Given the description of an element on the screen output the (x, y) to click on. 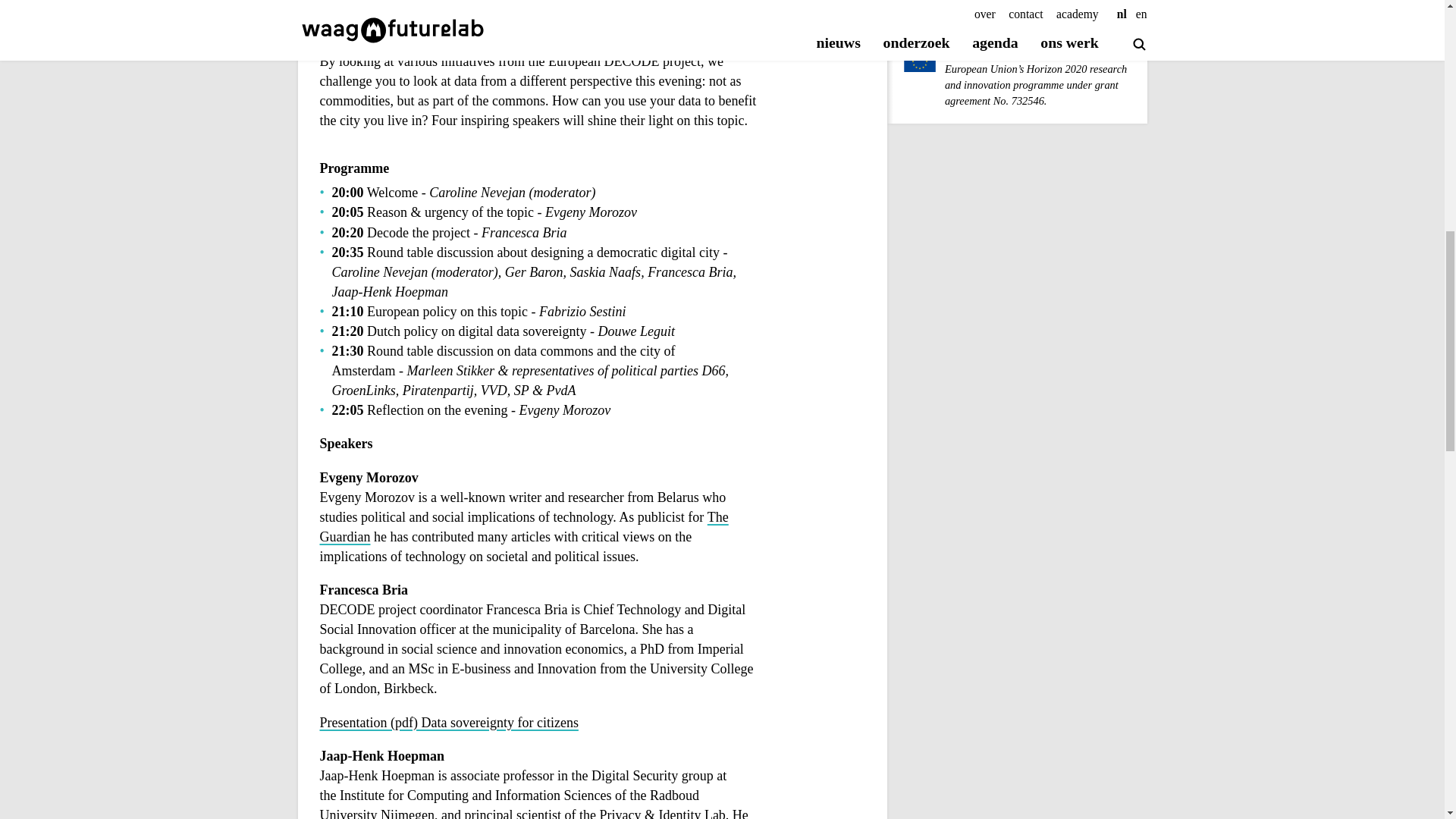
The Financial Times (472, 28)
DECODE (1016, 9)
The Guardian (524, 527)
the BBC (580, 28)
